Given the description of an element on the screen output the (x, y) to click on. 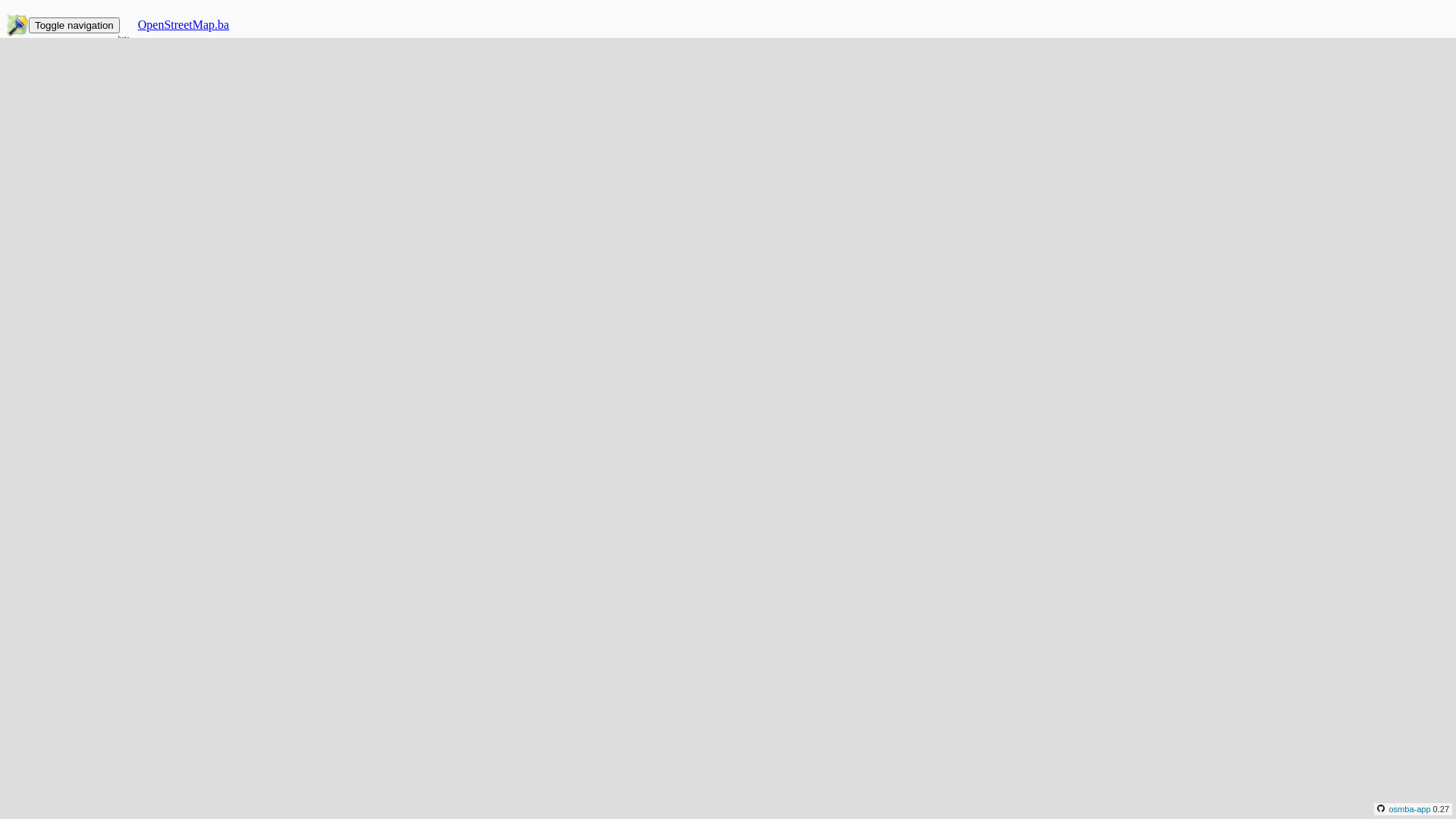
Prijaviti se preko OSM.org Element type: text (139, 180)
Arhiva talk-ba Element type: text (71, 89)
osmba-app Element type: text (1403, 807)
OpenStreetMap.ba Element type: text (183, 24)
Zajednica Element type: text (60, 75)
O mapi Element type: text (54, 62)
Projekti Element type: text (55, 116)
Galerija Element type: text (55, 103)
Toggle navigation Element type: text (73, 25)
